Given the description of an element on the screen output the (x, y) to click on. 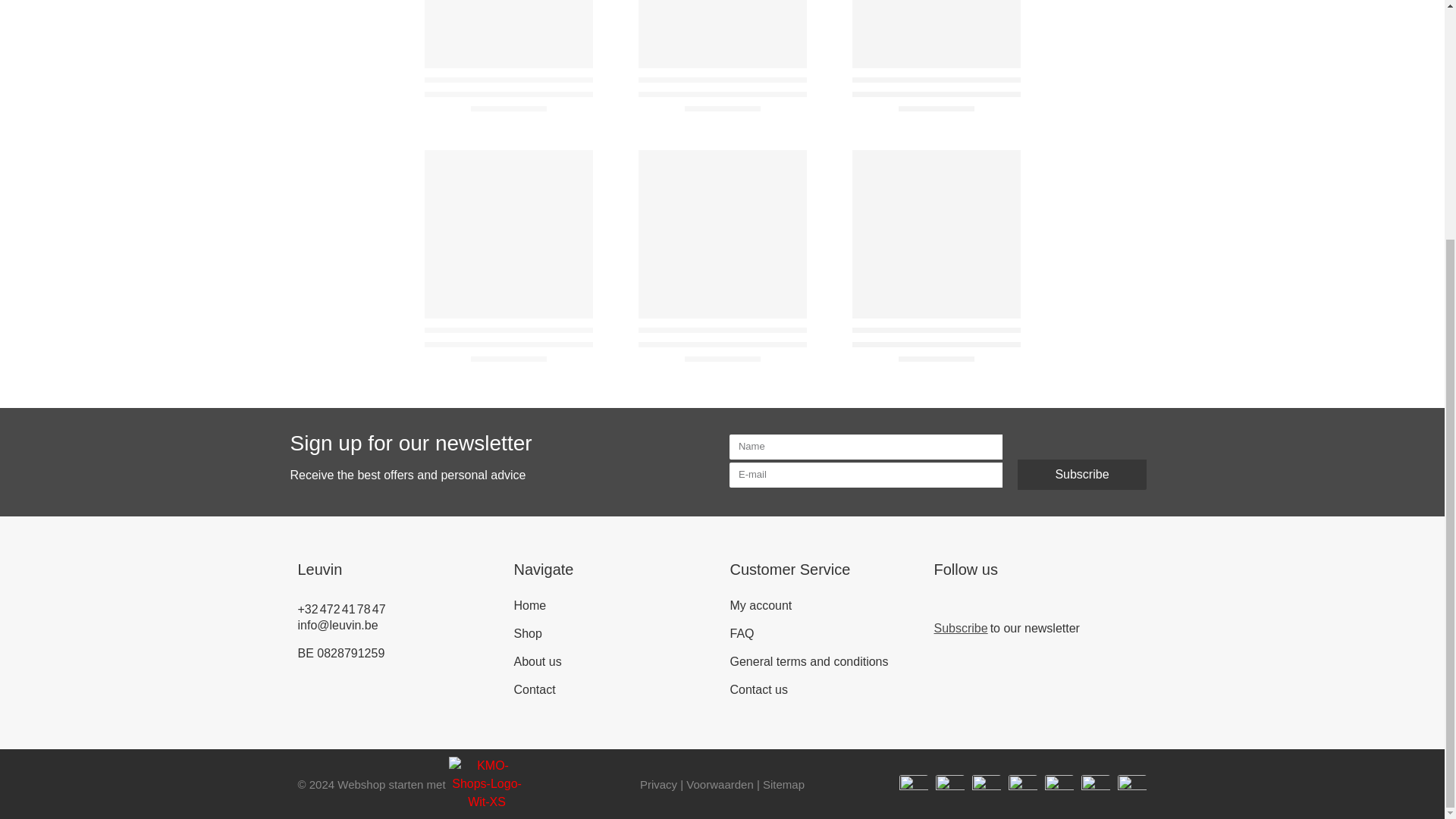
Subscribe (1082, 474)
Home (613, 605)
KMO-Shops-Logo-Wit-XS (486, 783)
